Given the description of an element on the screen output the (x, y) to click on. 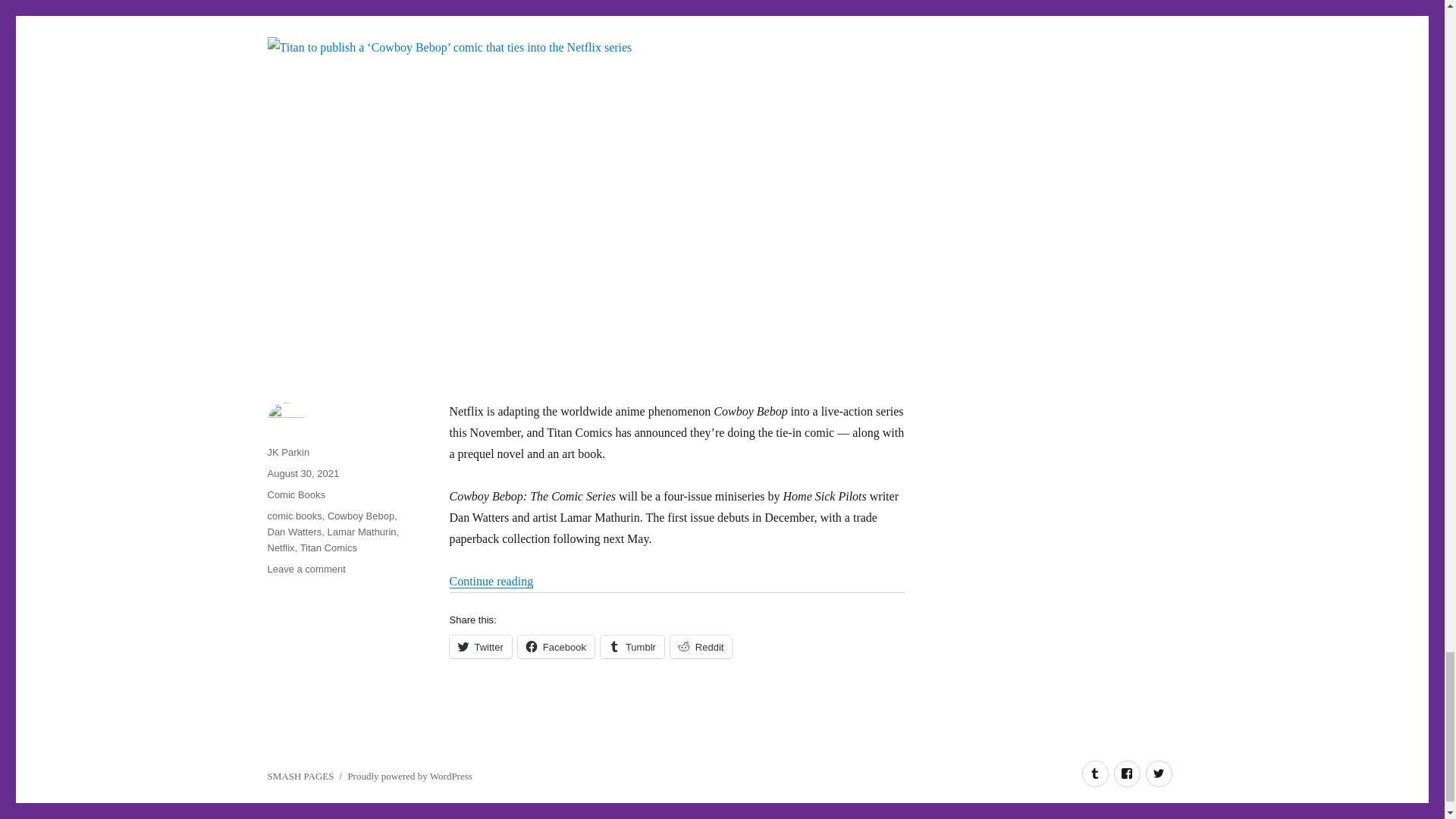
Click to share on Reddit (700, 646)
Click to share on Tumblr (631, 646)
Click to share on Facebook (556, 646)
Click to share on Twitter (479, 646)
